Given the description of an element on the screen output the (x, y) to click on. 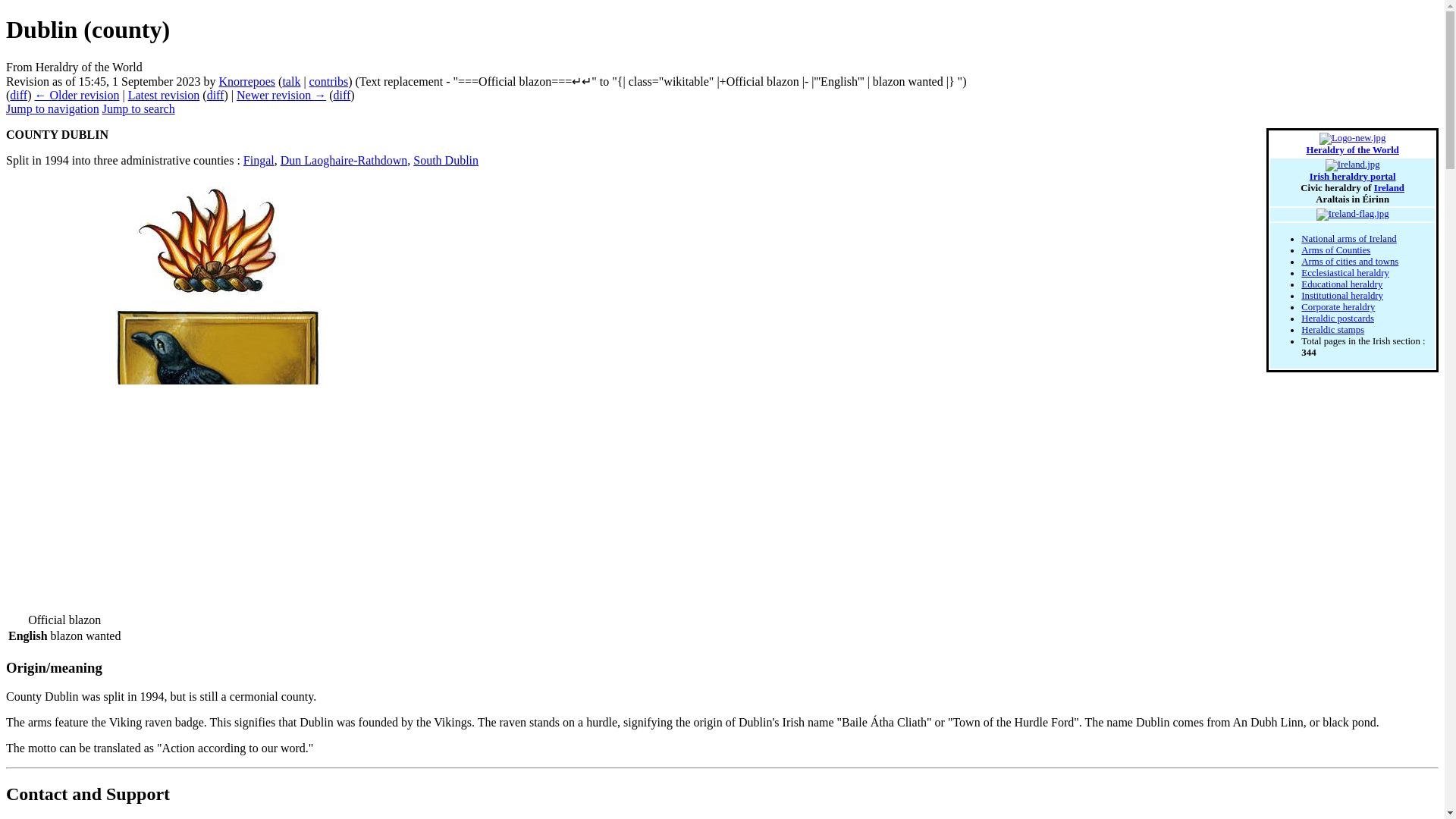
Category:Institutional heraldry of Ireland (1342, 295)
Category:Irish municipalities (1349, 261)
Heraldic postcards (1337, 317)
Jump to navigation (52, 108)
Irish heraldry portal (1352, 176)
Ireland (1389, 187)
Arms of Counties (1335, 249)
Educational heraldry (1341, 284)
Ecclesiastical heraldry (1345, 272)
Heraldry of the World (1351, 149)
